Given the description of an element on the screen output the (x, y) to click on. 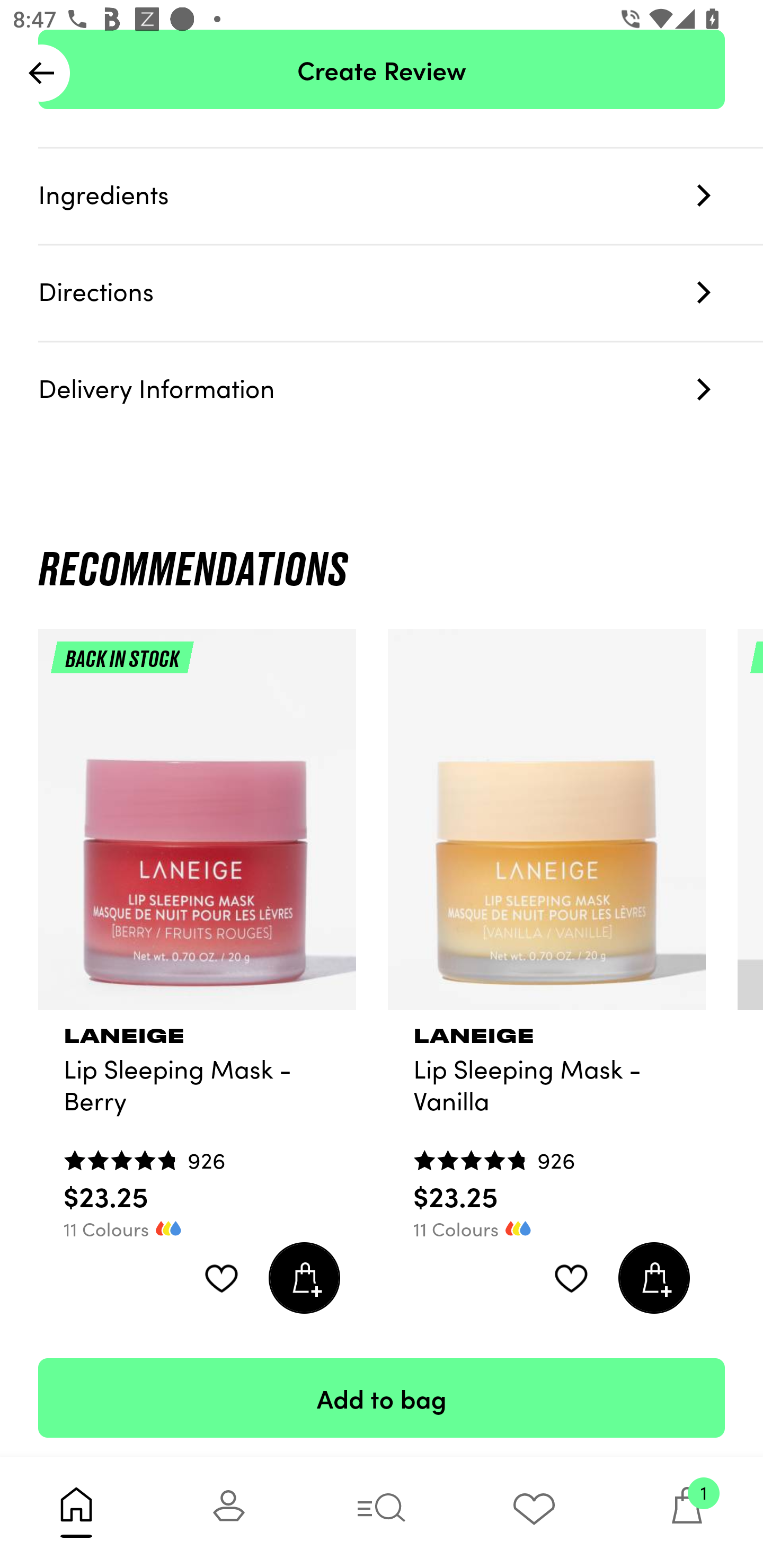
Create Review (381, 69)
Ingredients  (400, 196)
Directions  (400, 293)
Delivery Information  (400, 390)
BACK IN STOCK (197, 826)
Add to bag (381, 1397)
1 (686, 1512)
